Given the description of an element on the screen output the (x, y) to click on. 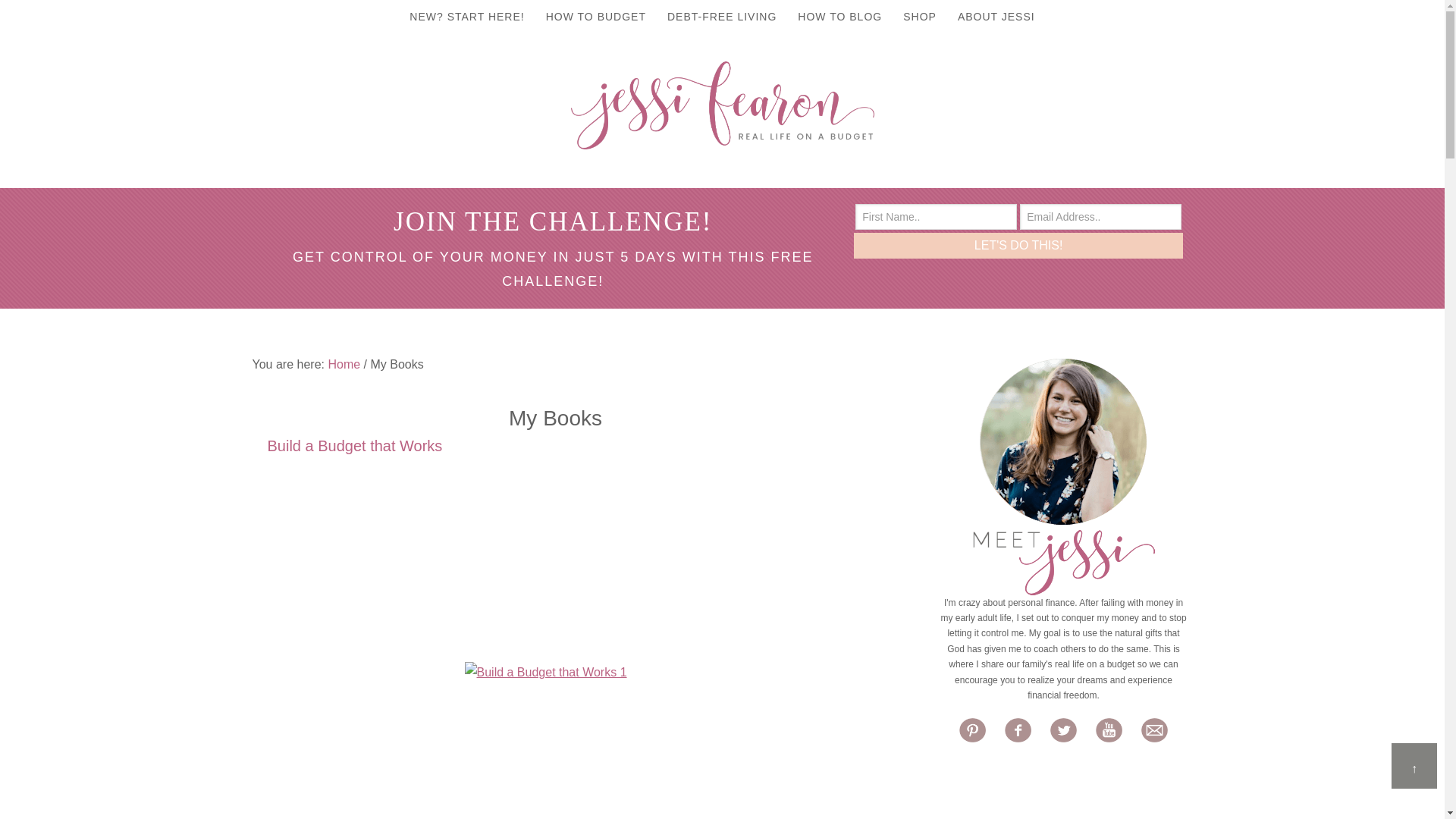
DEBT-FREE LIVING (721, 17)
Home (343, 364)
HOW TO BLOG (839, 17)
NEW? START HERE! (466, 17)
SHOP (919, 17)
JESSI FEARON (721, 105)
HOW TO BUDGET (595, 17)
LET'S DO THIS! (1017, 245)
ABOUT JESSI (996, 17)
